Given the description of an element on the screen output the (x, y) to click on. 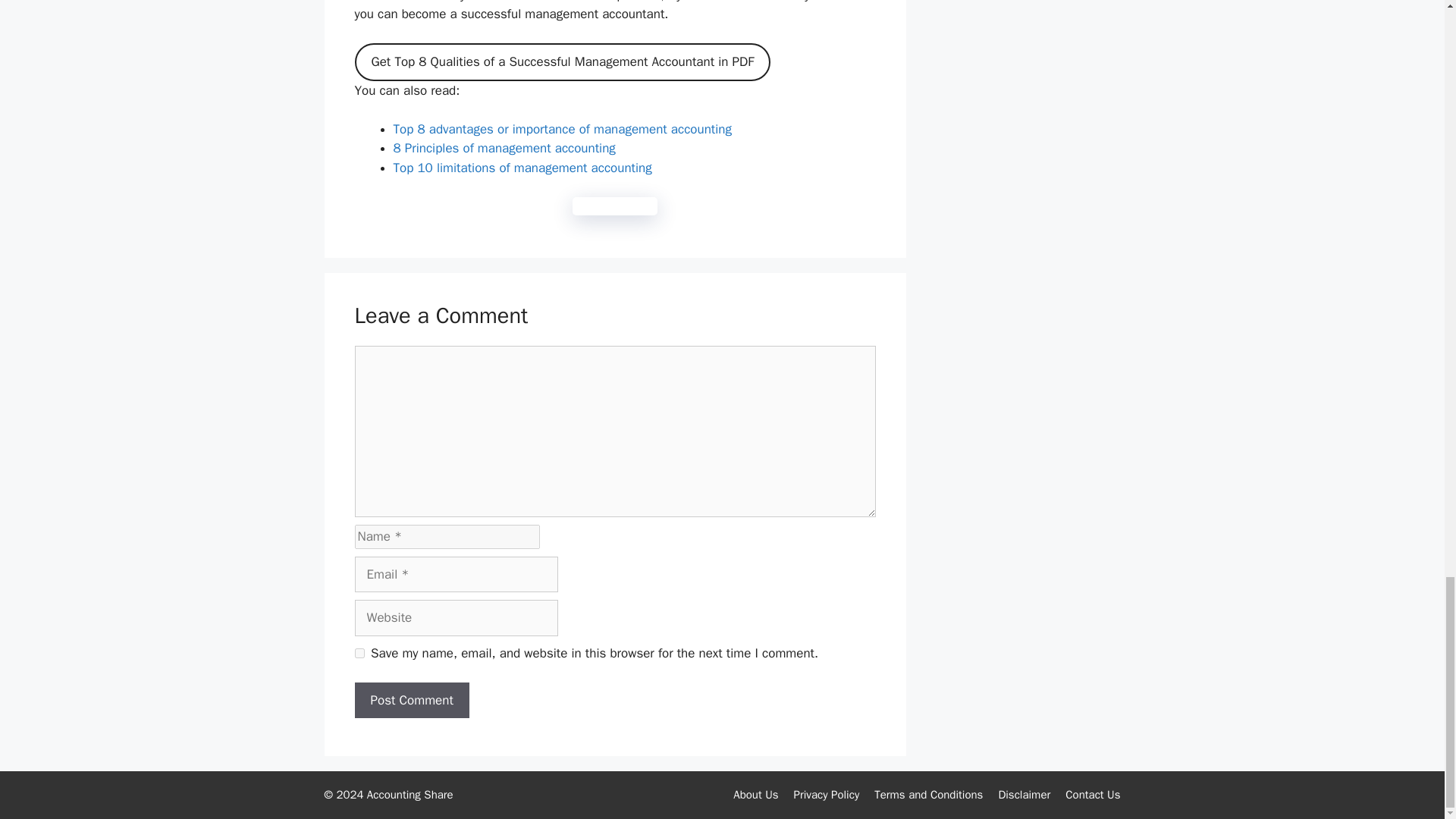
Post Comment (411, 700)
8 Principles of management accounting (503, 148)
Top 10 limitations of management accounting (521, 167)
yes (360, 653)
Top 8 advantages or importance of management accounting (561, 129)
Post Comment (411, 700)
